Given the description of an element on the screen output the (x, y) to click on. 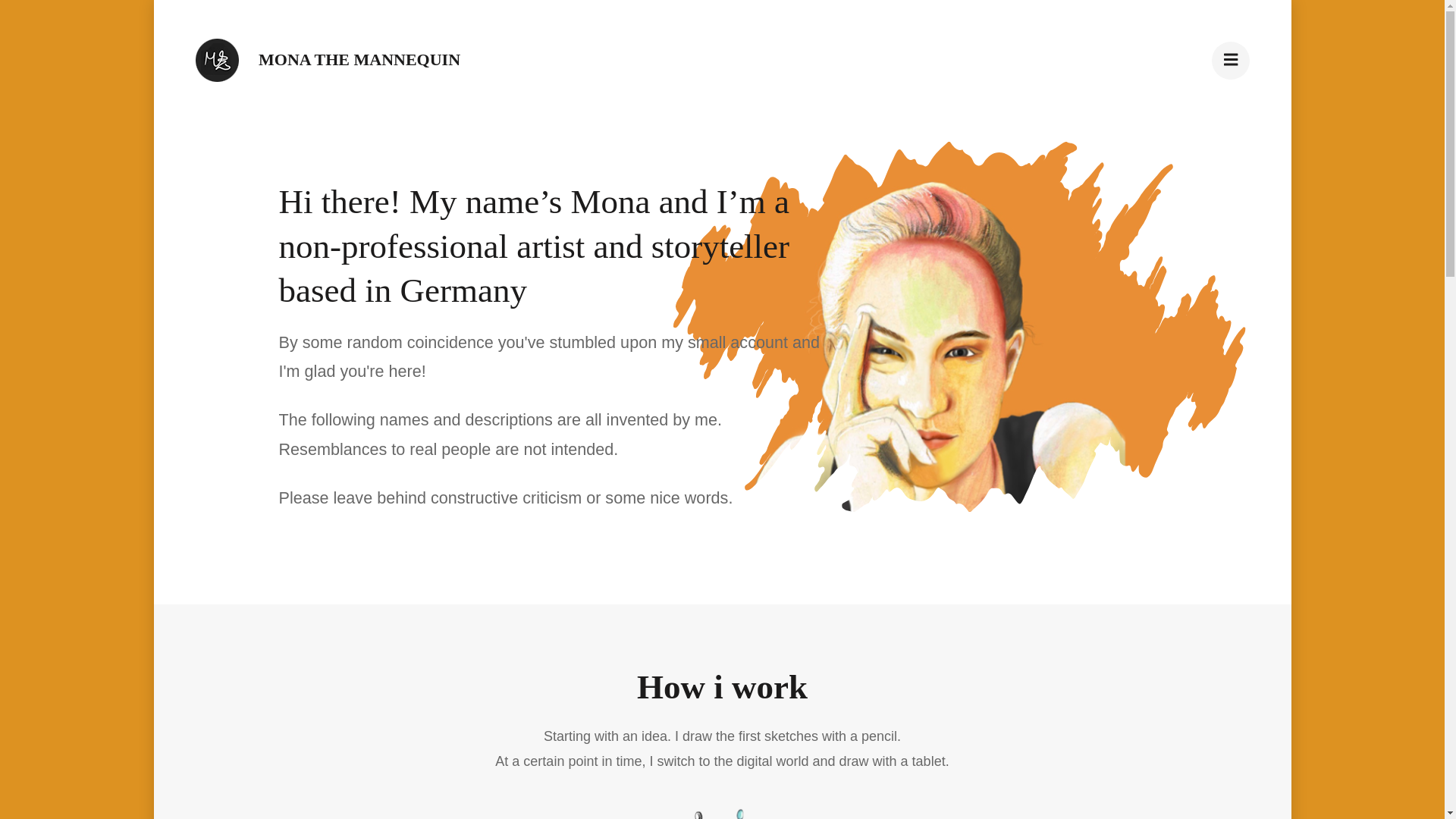
MONA THE MANNEQUIN (359, 58)
